Given the description of an element on the screen output the (x, y) to click on. 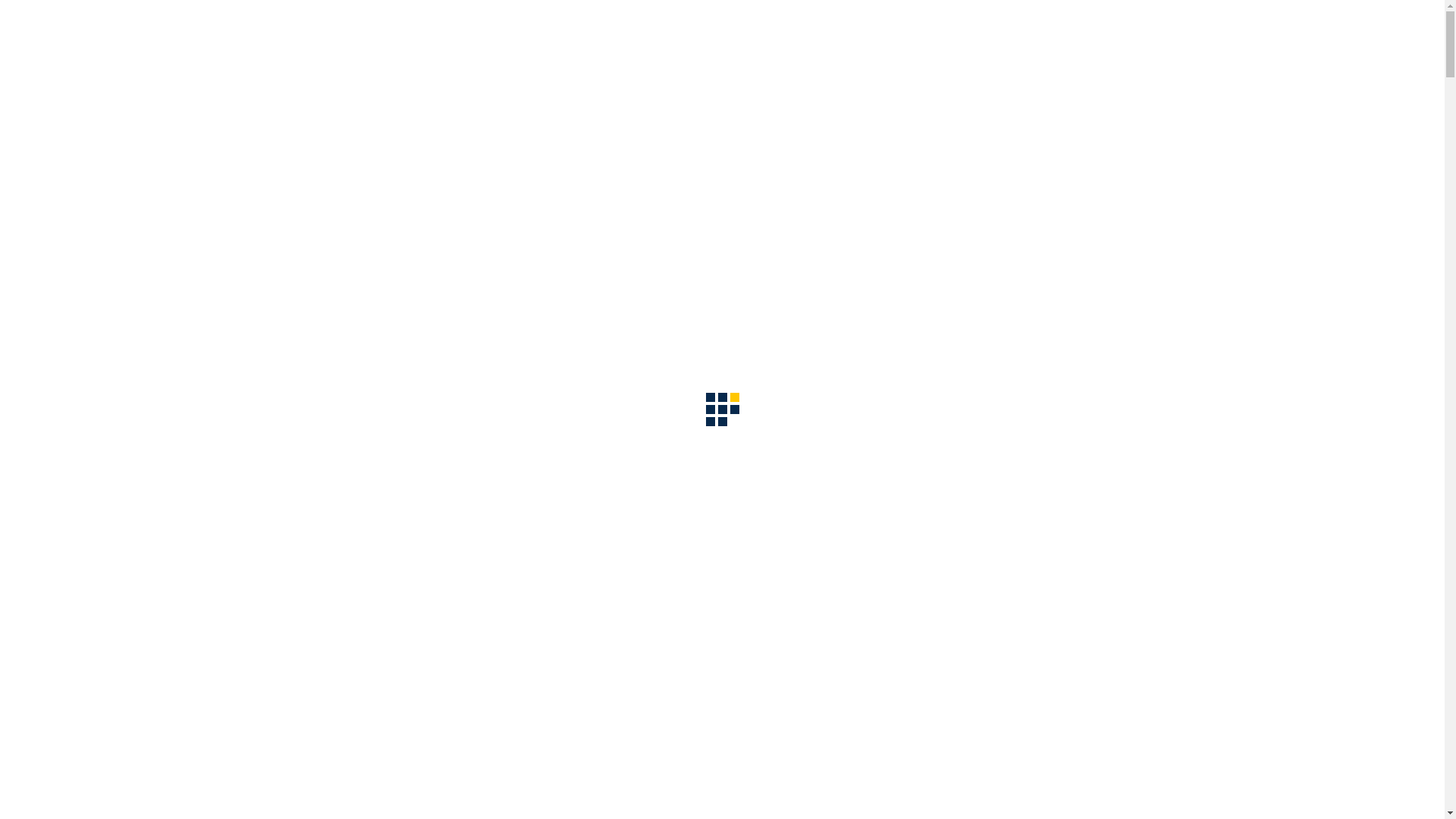
ABOUT AS Element type: text (371, 161)
GALLERY Element type: text (850, 161)
ACADEMIC Element type: text (462, 161)
CONTACT Element type: text (932, 161)
HOME Element type: text (296, 161)
LOGIN Element type: text (1008, 161)
NOTICE Element type: text (773, 161)
ADMINISTRATION Element type: text (574, 161)
ADMISSION Element type: text (688, 161)
